Given the description of an element on the screen output the (x, y) to click on. 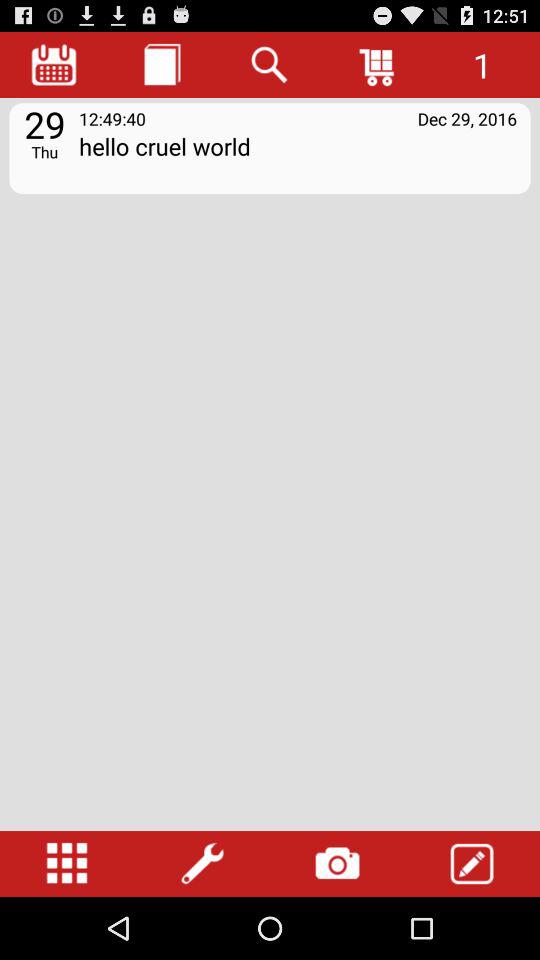
click dec 29, 2016 icon (467, 118)
